Given the description of an element on the screen output the (x, y) to click on. 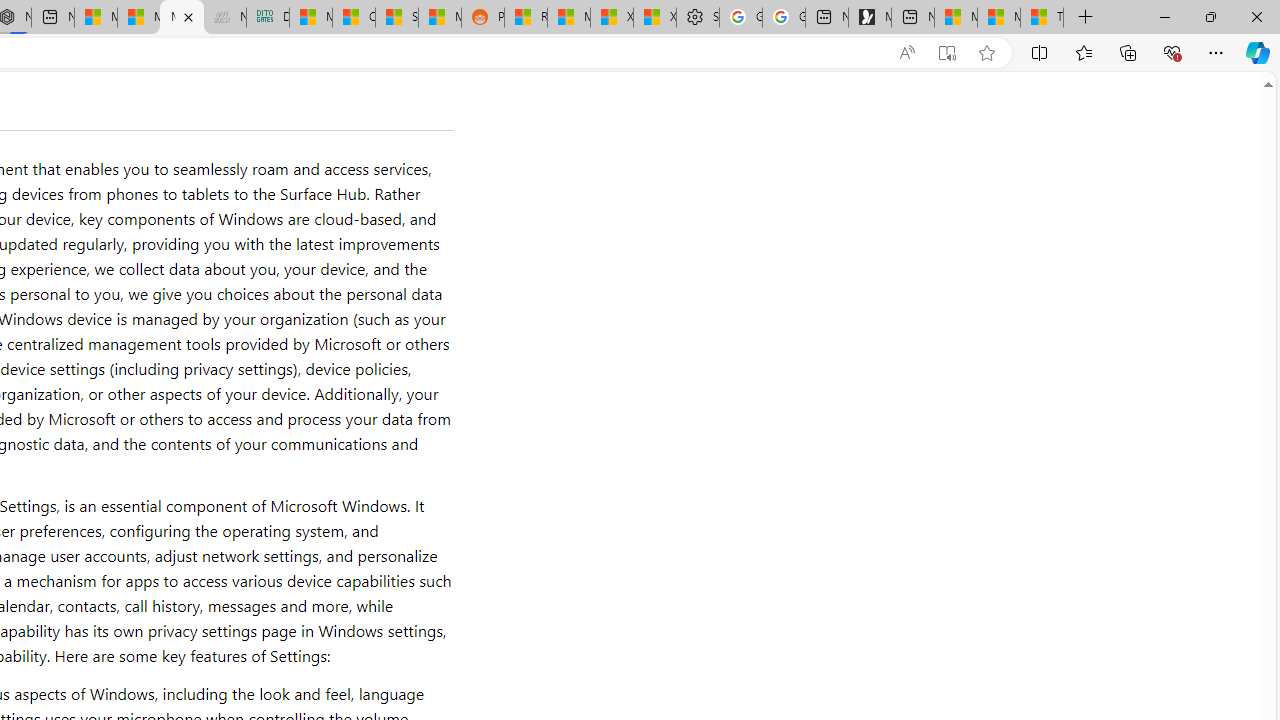
Enter Immersive Reader (F9) (946, 53)
R******* | Trusted Community Engagement and Contributions (525, 17)
MSN (439, 17)
